Given the description of an element on the screen output the (x, y) to click on. 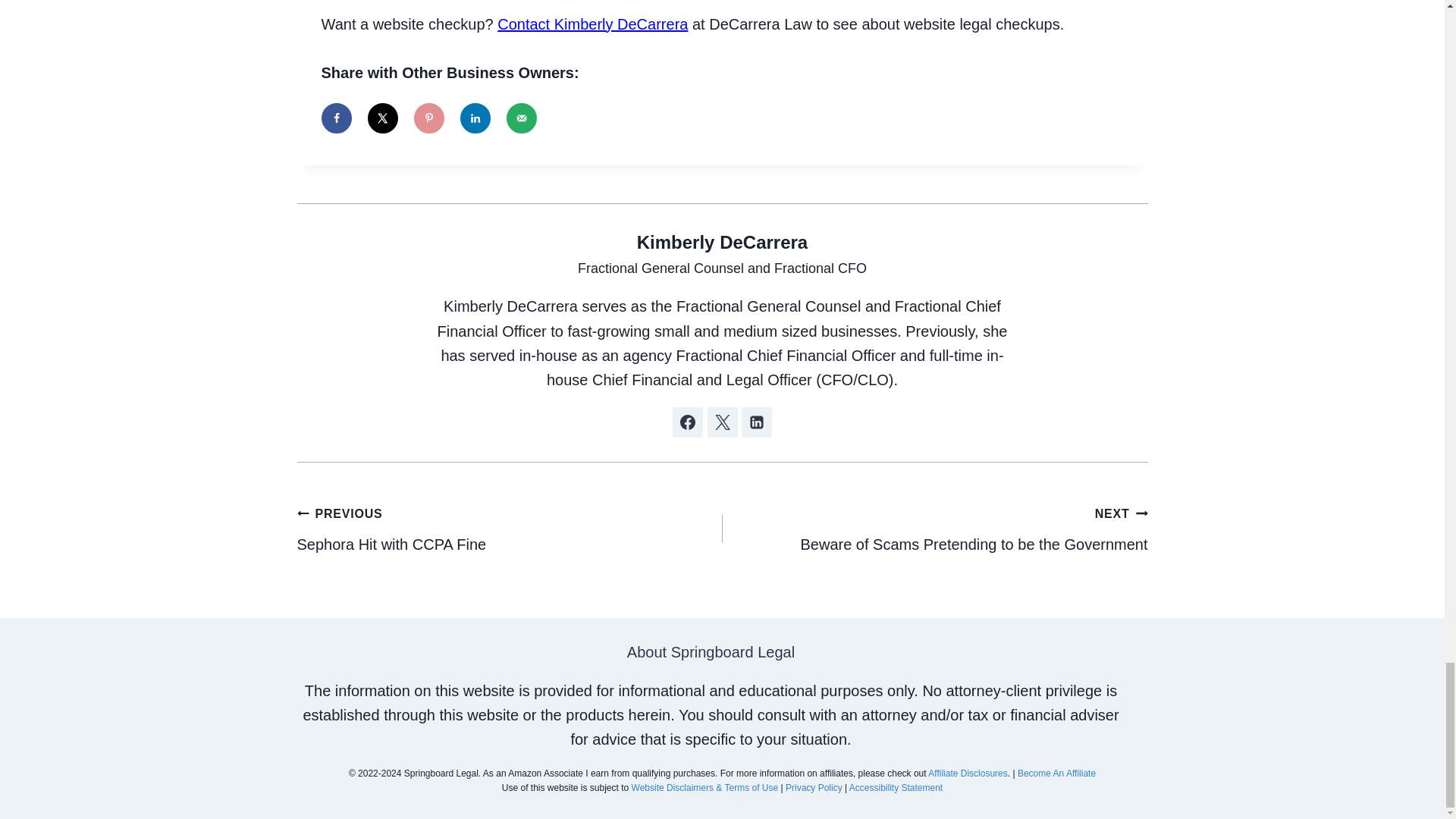
Contact Kimberly DeCarrera (592, 23)
Follow Kimberly DeCarrera on X formerly Twitter (721, 422)
Share on Facebook (336, 118)
Send over email (934, 528)
Share on X (509, 528)
Become An Affiliate (521, 118)
Share on LinkedIn (382, 118)
Affiliate Disclosures (1056, 773)
